Given the description of an element on the screen output the (x, y) to click on. 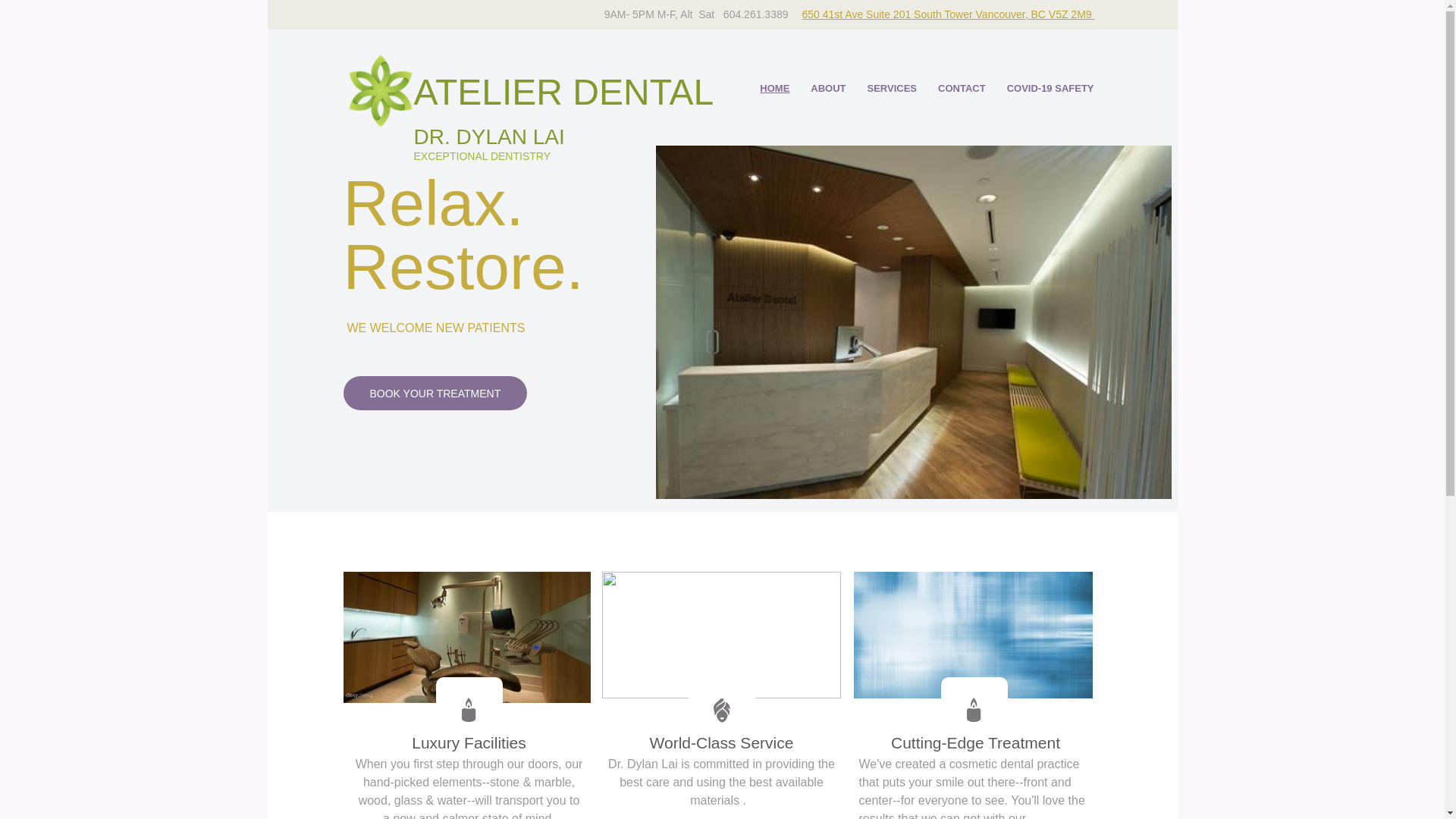
SERVICES Element type: text (892, 88)
BOOK YOUR TREATMENT Element type: text (434, 393)
ABOUT Element type: text (828, 88)
HOME Element type: text (774, 88)
650 41st Ave Suite 201 South Tower Vancouver, BC V5Z 2M9  Element type: text (947, 14)
COVID-19 SAFETY Element type: text (1050, 88)
CONTACT Element type: text (961, 88)
